Given the description of an element on the screen output the (x, y) to click on. 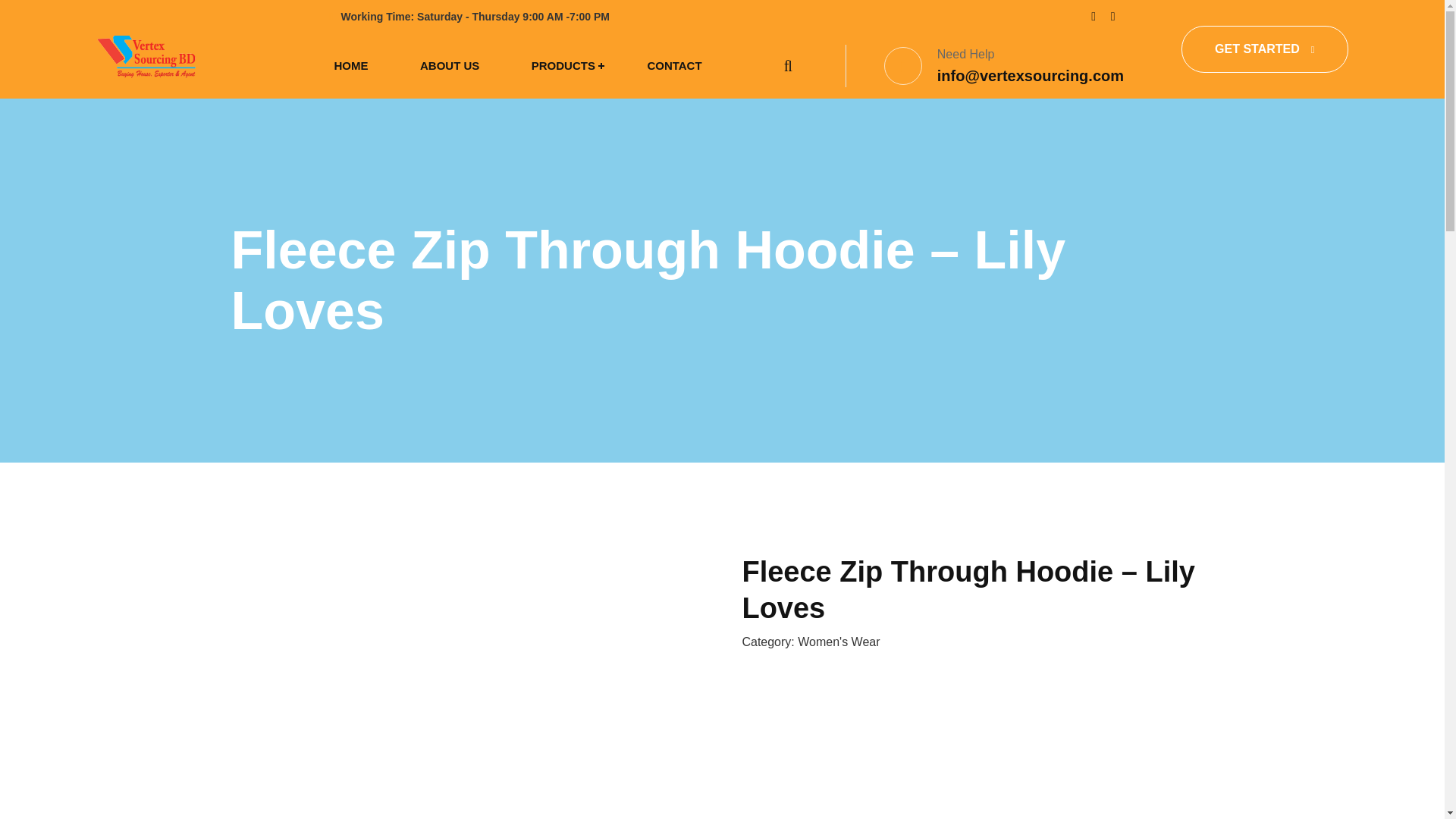
Women'S Wear (838, 641)
ABOUT US (449, 65)
HOME (351, 65)
PRODUCTS (563, 65)
CONTACT (674, 65)
Working Time: Saturday - Thursday 9:00 AM -7:00 PM (469, 16)
GET STARTED (1264, 48)
